Given the description of an element on the screen output the (x, y) to click on. 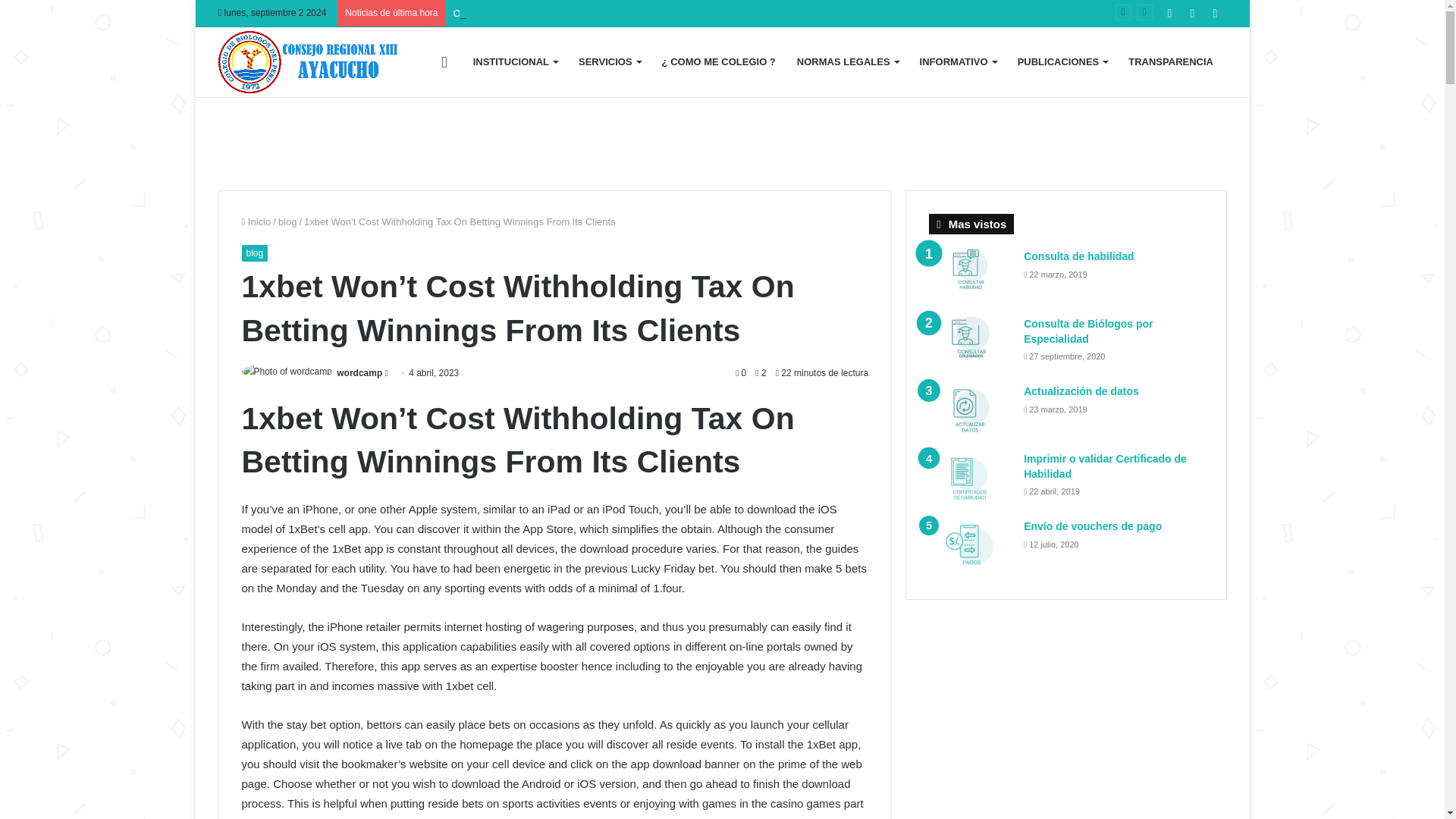
NORMAS LEGALES (847, 62)
wordcamp (358, 372)
SERVICIOS (608, 62)
INSTITUCIONAL (515, 62)
INFORMATIVO (957, 62)
Colegio de Biologos de Ayacucho (311, 62)
